Given the description of an element on the screen output the (x, y) to click on. 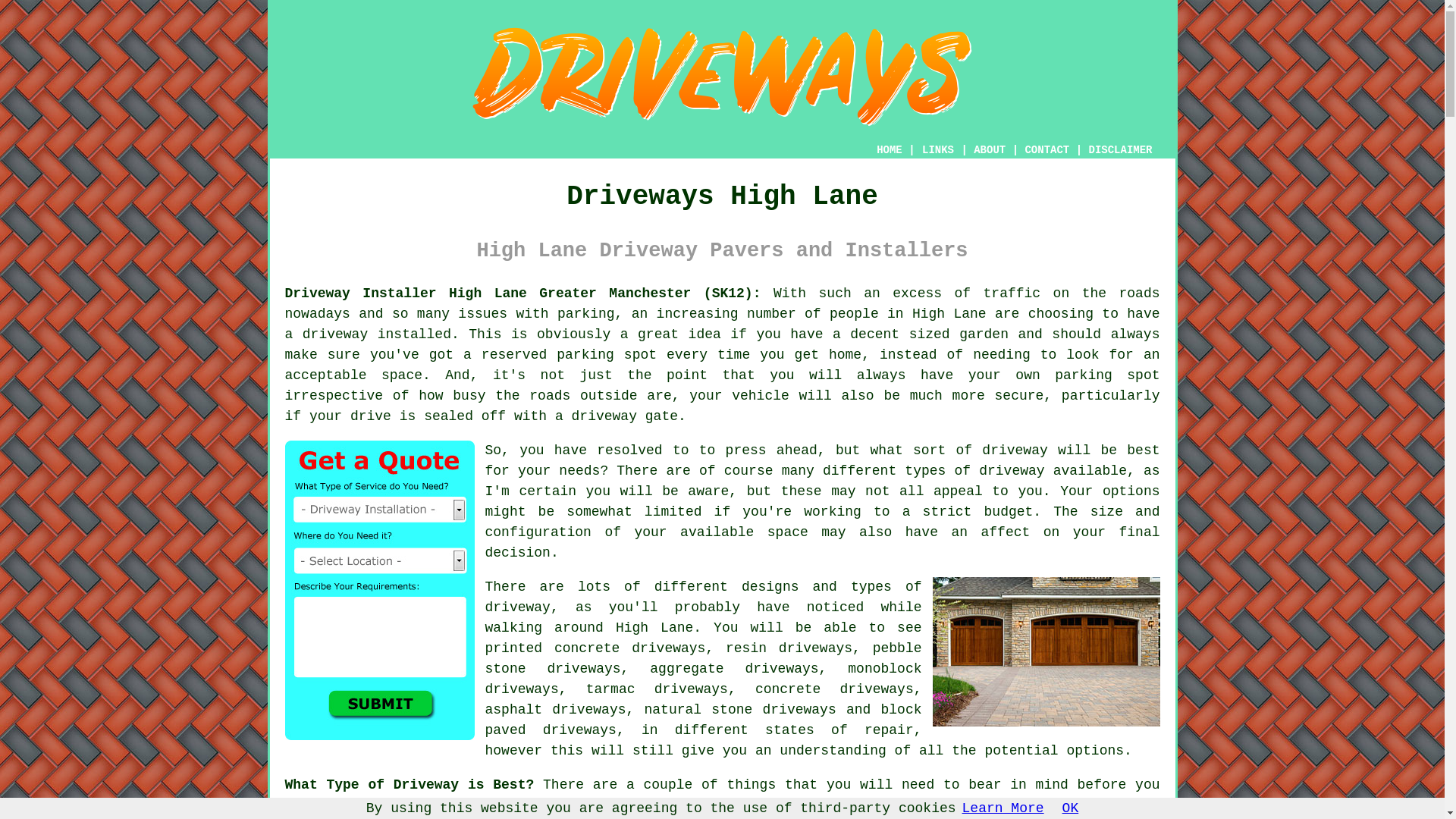
Driveways High Lane Greater Manchester (722, 76)
a driveway (326, 334)
HOME (889, 150)
tarmac driveways (657, 688)
concrete driveways (834, 688)
LINKS (938, 150)
